Given the description of an element on the screen output the (x, y) to click on. 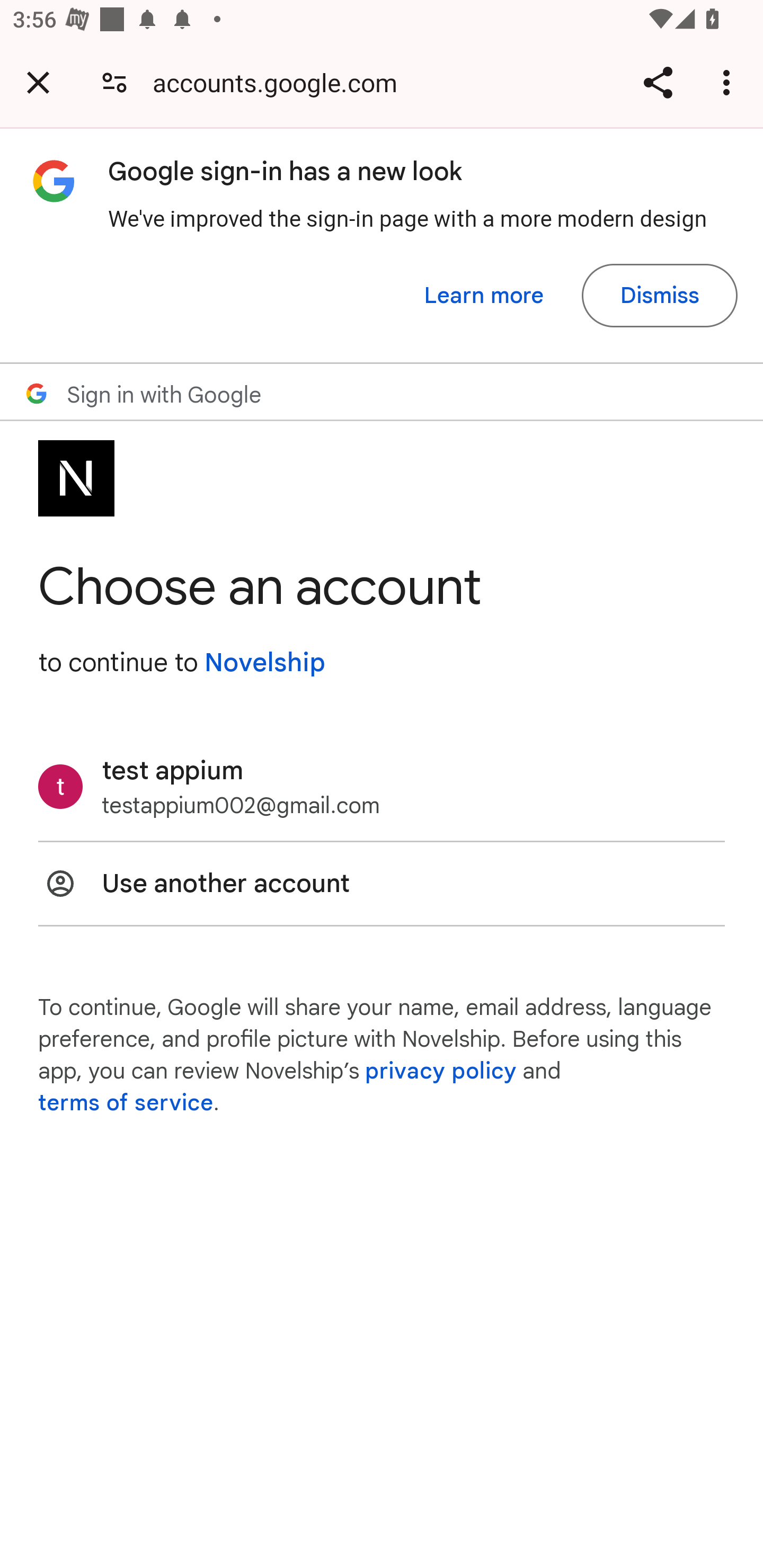
Close tab (38, 82)
Share (657, 82)
Customize and control Google Chrome (729, 82)
Connection is secure (114, 81)
accounts.google.com (281, 81)
Learn more (483, 295)
Dismiss (659, 295)
Novelship (264, 662)
Use another account (381, 883)
privacy policy (440, 1070)
terms of service (126, 1102)
